Given the description of an element on the screen output the (x, y) to click on. 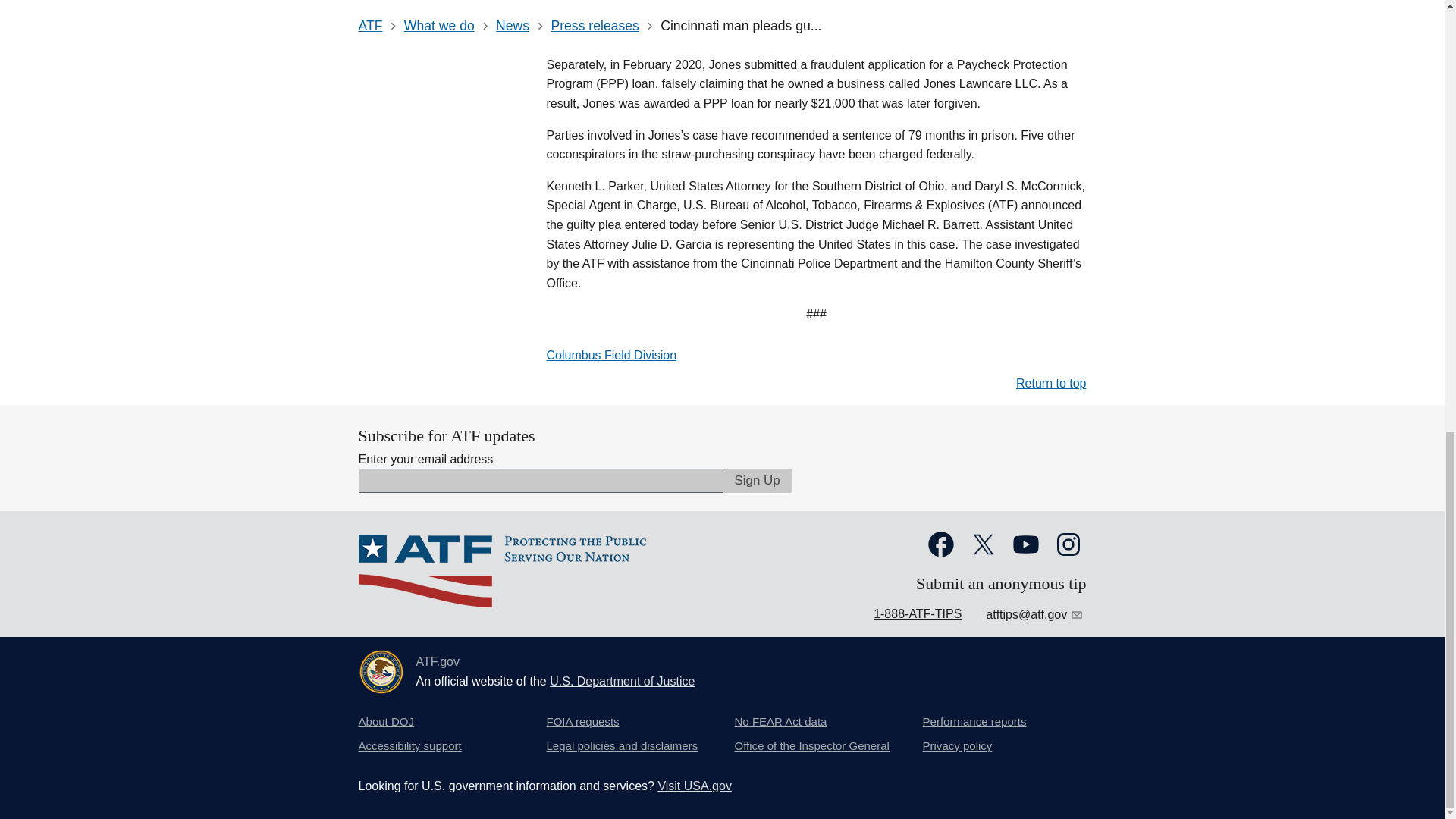
No FEAR Act data (780, 721)
Visit USA.gov (695, 786)
Office of the Inspector General (810, 746)
FOIA requests (582, 721)
Return to top (1051, 382)
Legal policies and disclaimers (621, 746)
About DOJ (385, 721)
Performance reports (973, 721)
U.S. Department of Justice (622, 680)
Accessibility support (409, 746)
